Given the description of an element on the screen output the (x, y) to click on. 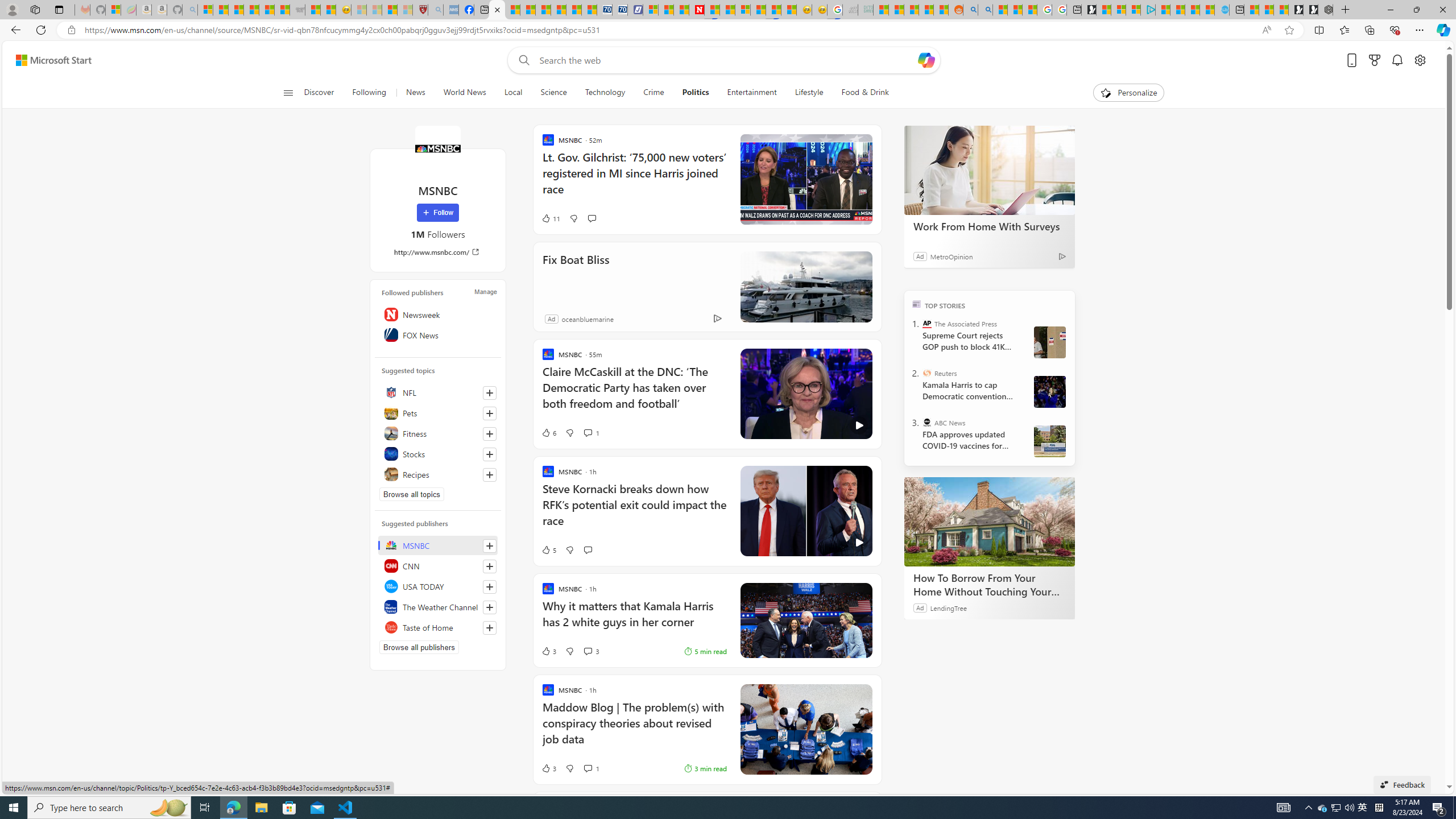
The Weather Channel - MSN (236, 9)
Technology (605, 92)
Skip to content (49, 59)
Newsweek (437, 314)
World News (464, 92)
News (415, 92)
Recipes - MSN - Sleeping (358, 9)
View comments 1 Comment (591, 768)
Fix Boat BlissAdoceanbluemarine (707, 286)
